Given the description of an element on the screen output the (x, y) to click on. 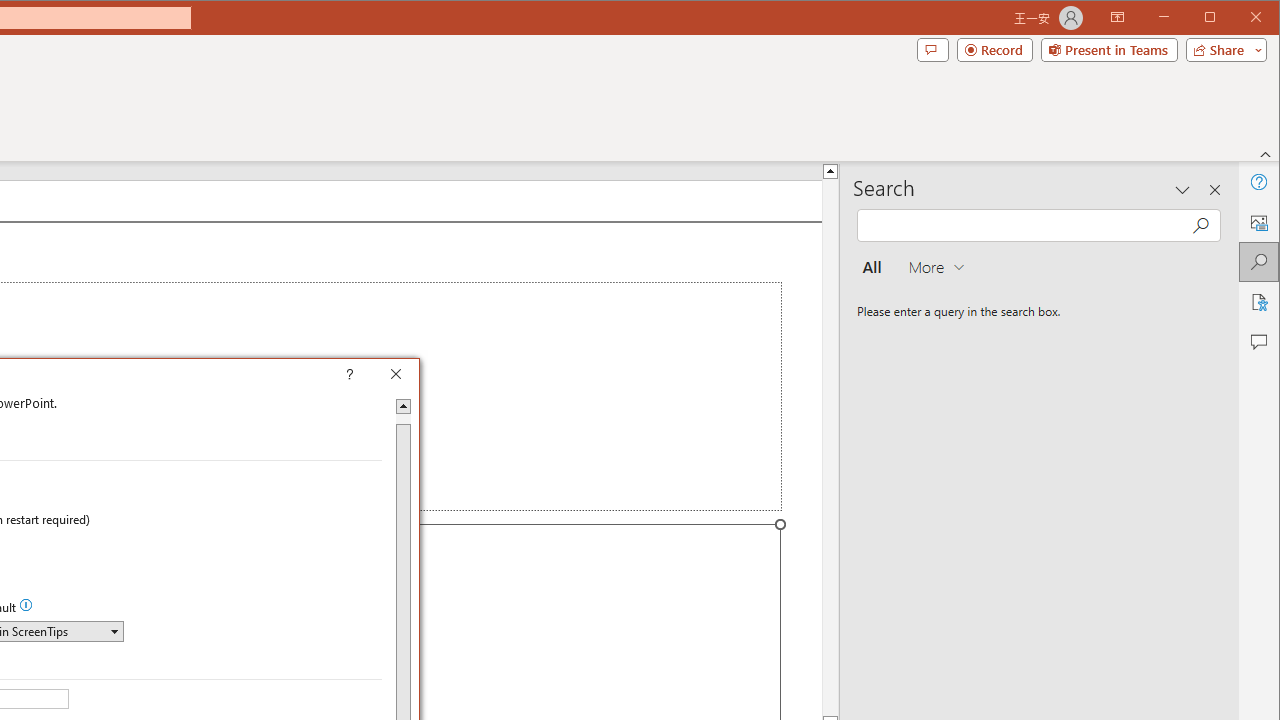
Context help (378, 376)
